Given the description of an element on the screen output the (x, y) to click on. 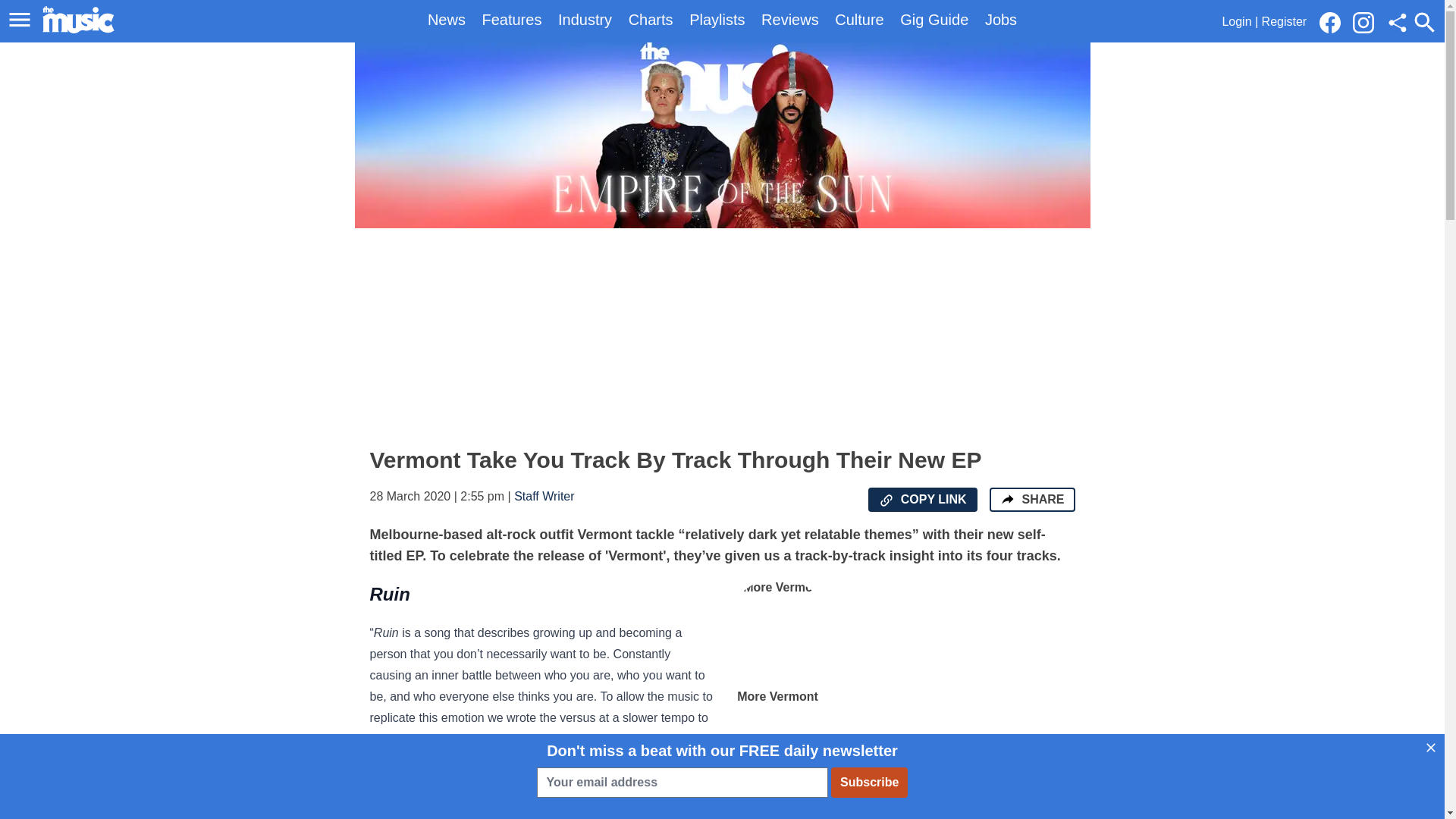
Open the site search menu (1424, 22)
Reviews (789, 19)
Industry (584, 19)
Gig Guide (933, 19)
Open the main menu (22, 19)
Share this page (1397, 22)
Charts (650, 19)
Copy the page URL (886, 500)
Register (1284, 21)
Playlists (716, 19)
Link to our Facebook (1334, 21)
Copy the page URL COPY LINK (921, 499)
Features (511, 19)
Link to our Facebook (1329, 22)
